Given the description of an element on the screen output the (x, y) to click on. 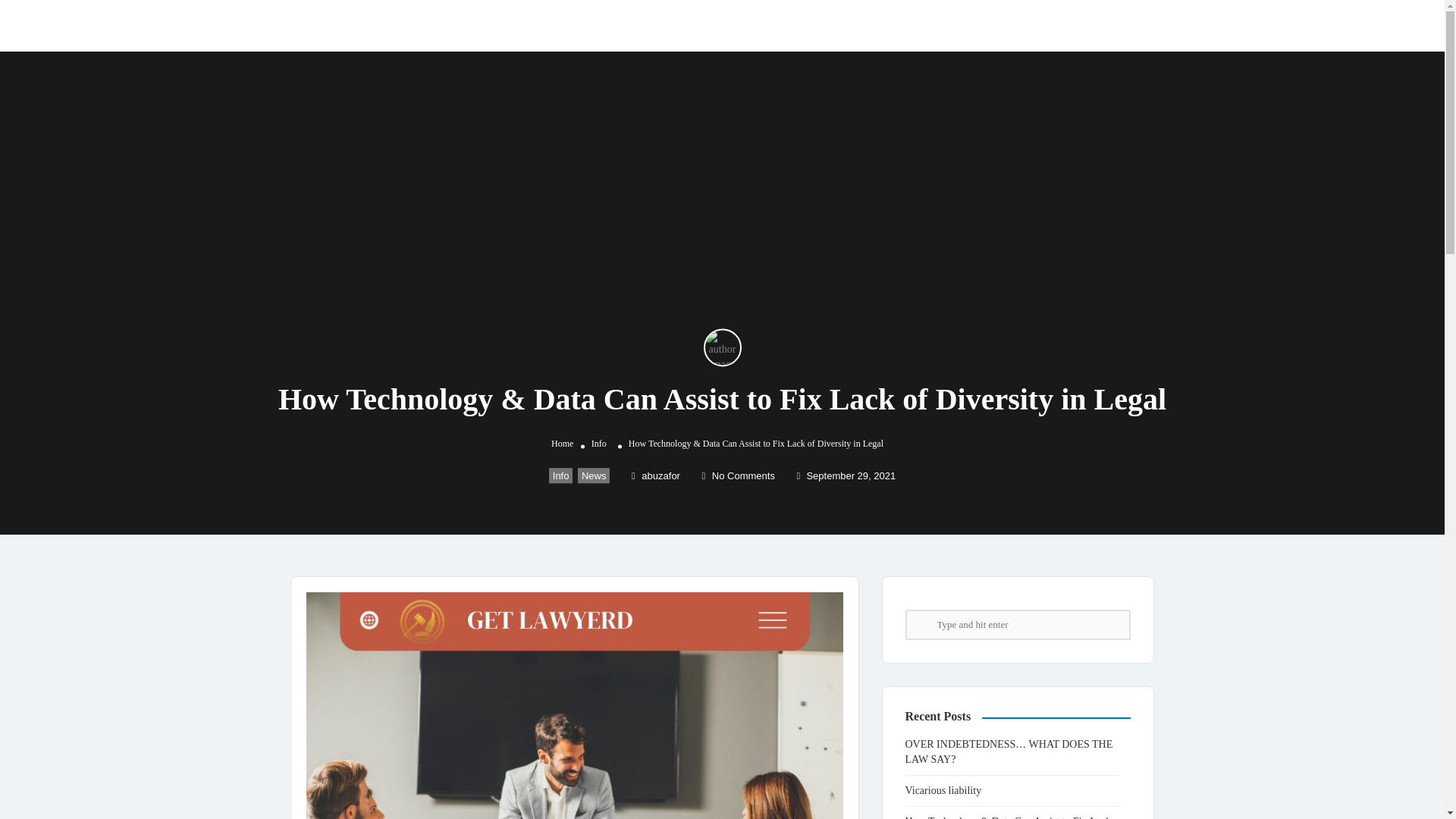
Listing Plans (891, 24)
Sign In (1037, 25)
Contact (956, 24)
Home (562, 443)
Add Listing (1106, 24)
Blogs and articles (800, 24)
Info (560, 475)
Home (727, 24)
No Comments (737, 475)
abuzafor (655, 475)
